Given the description of an element on the screen output the (x, y) to click on. 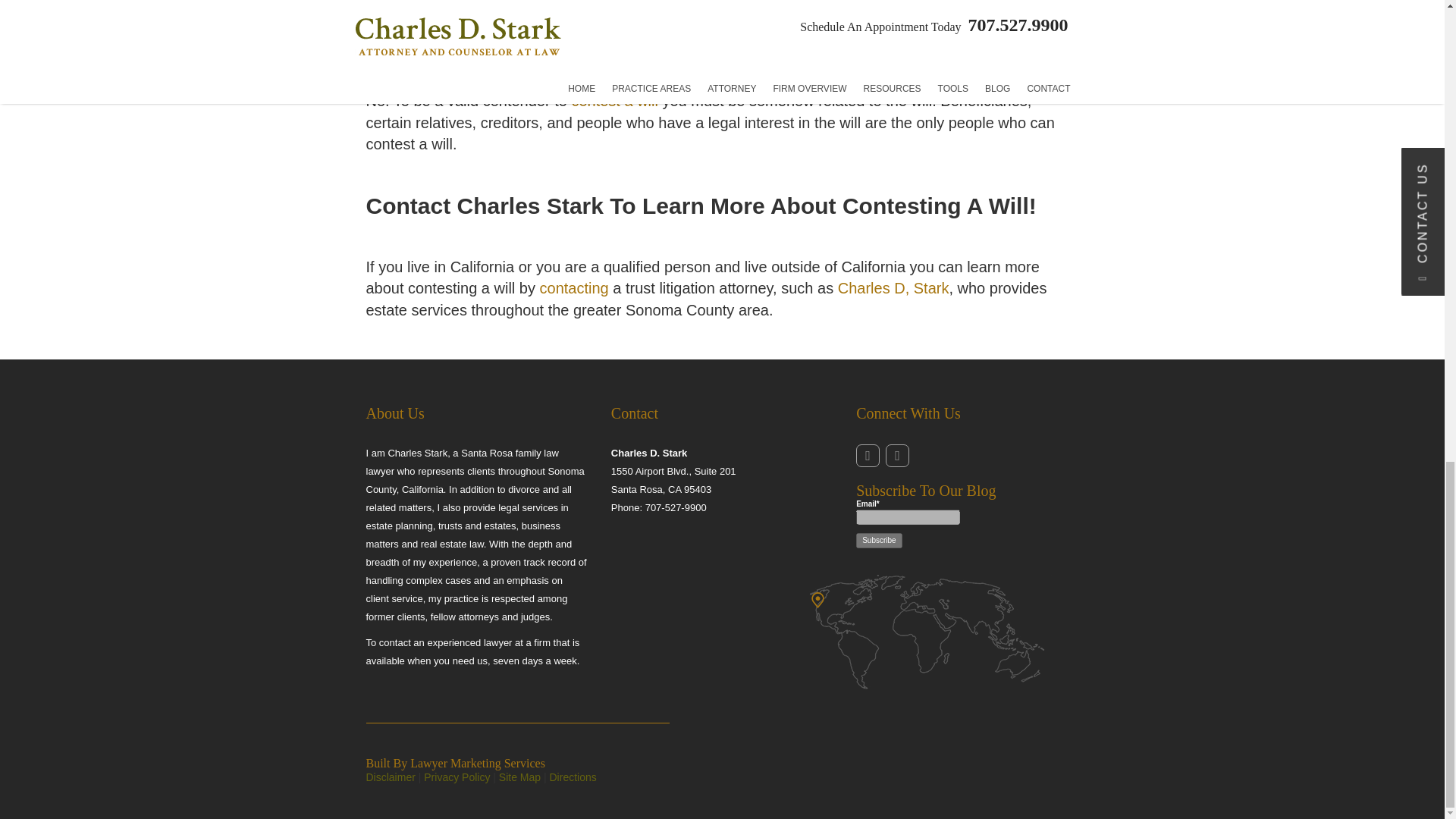
Subscribe (878, 540)
contest a will (614, 100)
Subscribe (878, 540)
Site Map (519, 776)
contacting (574, 288)
Charles D, Stark (893, 288)
Privacy Policy (456, 776)
Directions (571, 776)
Disclaimer (389, 776)
